Given the description of an element on the screen output the (x, y) to click on. 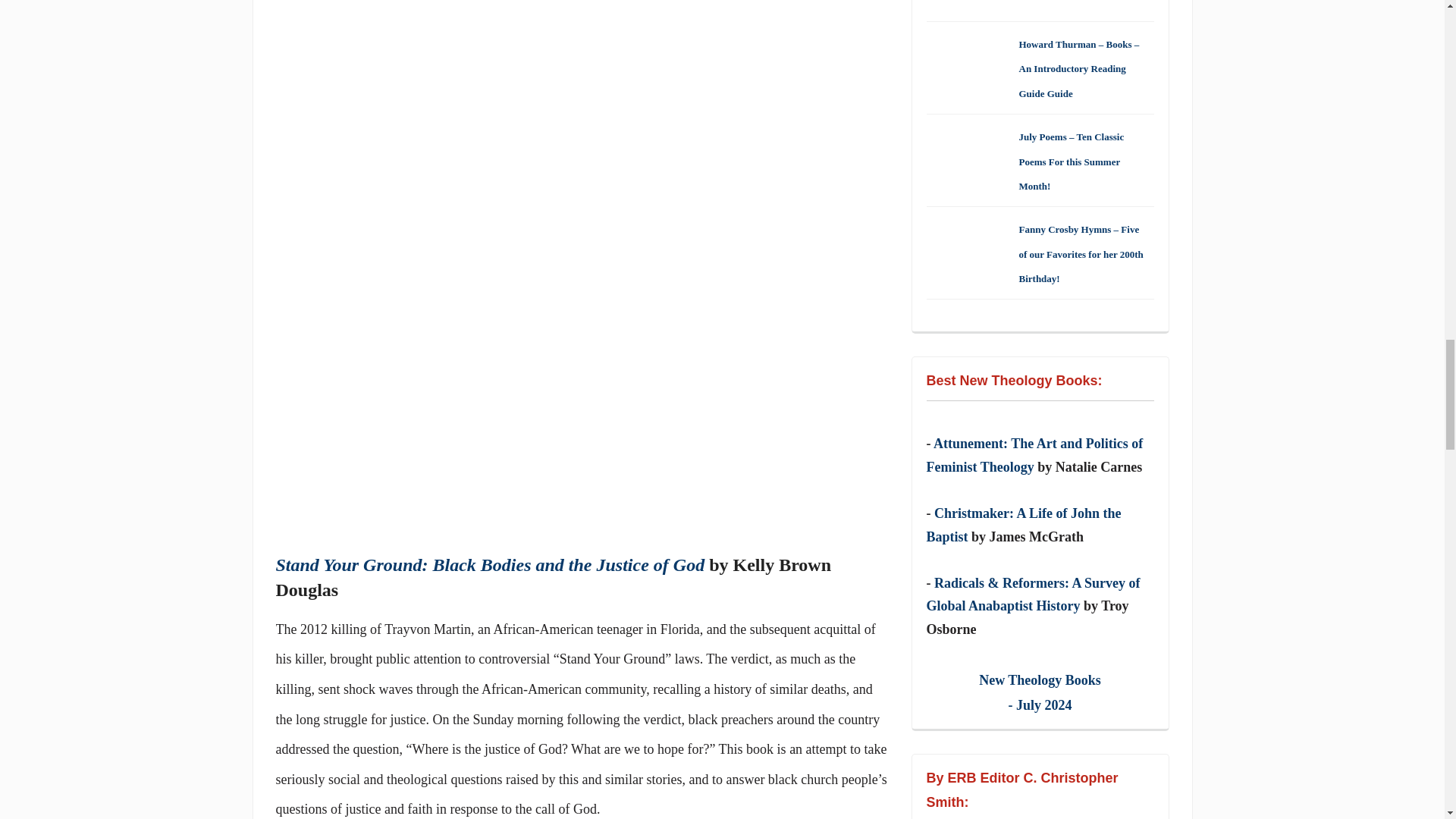
Stand Your Ground: Black Bodies and the Justice of God (490, 564)
